Given the description of an element on the screen output the (x, y) to click on. 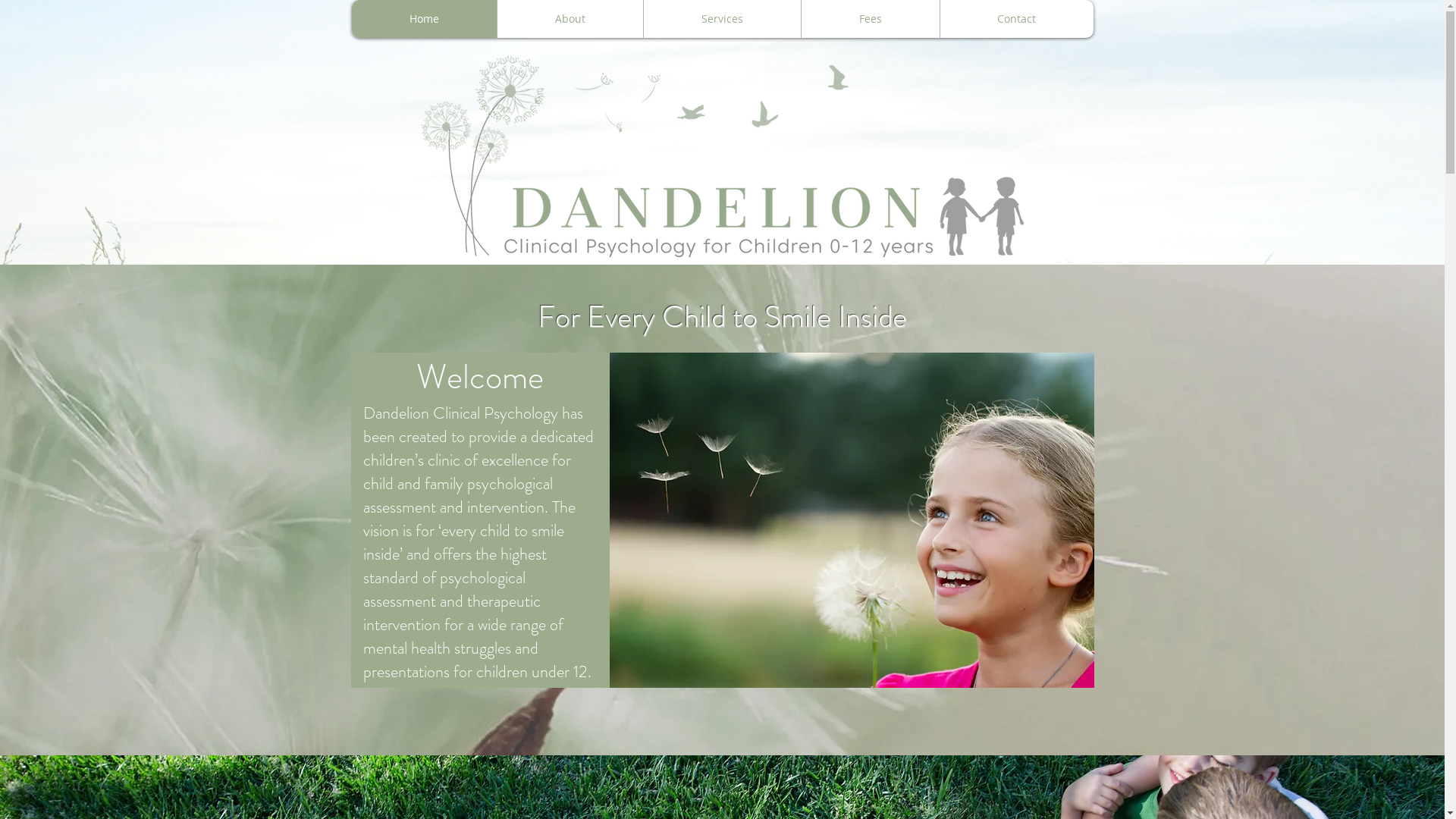
Contact Element type: text (1015, 18)
Home Element type: text (423, 18)
Services Element type: text (721, 18)
Fees Element type: text (869, 18)
About Element type: text (568, 18)
